Given the description of an element on the screen output the (x, y) to click on. 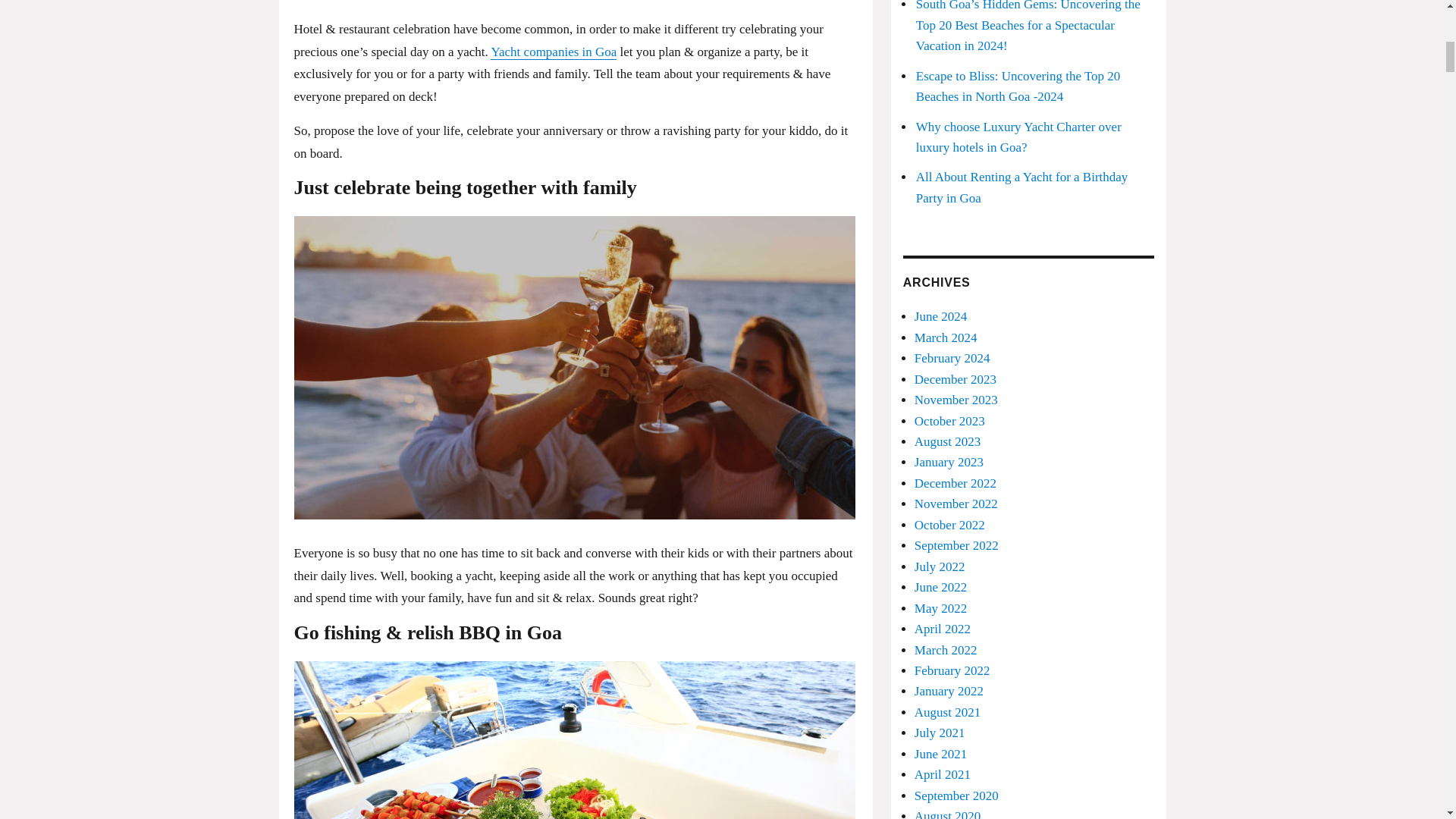
Yacht companies in Goa (552, 51)
